Given the description of an element on the screen output the (x, y) to click on. 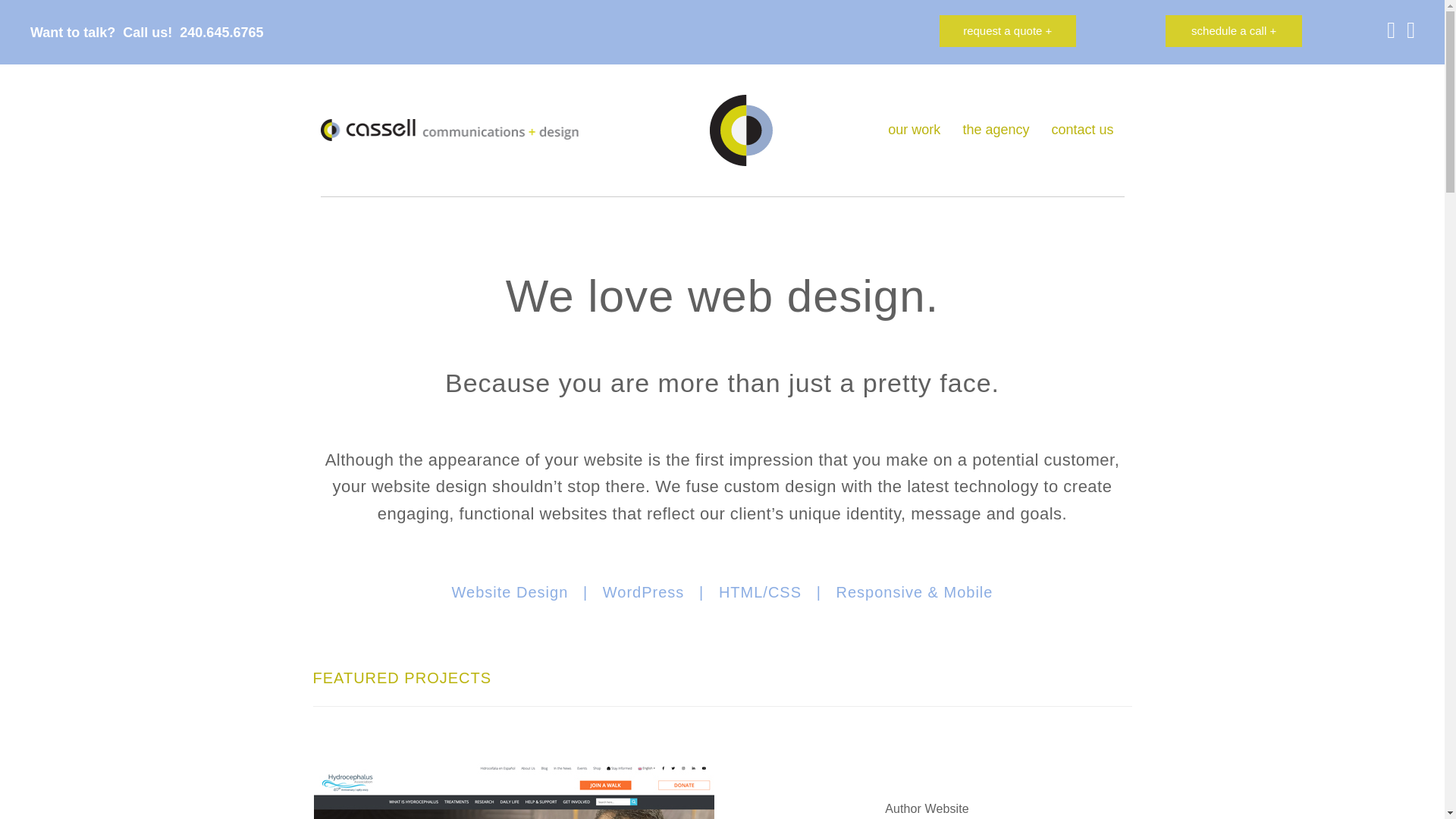
contact us (1082, 130)
our work (913, 130)
the agency (995, 130)
logo (449, 129)
